Given the description of an element on the screen output the (x, y) to click on. 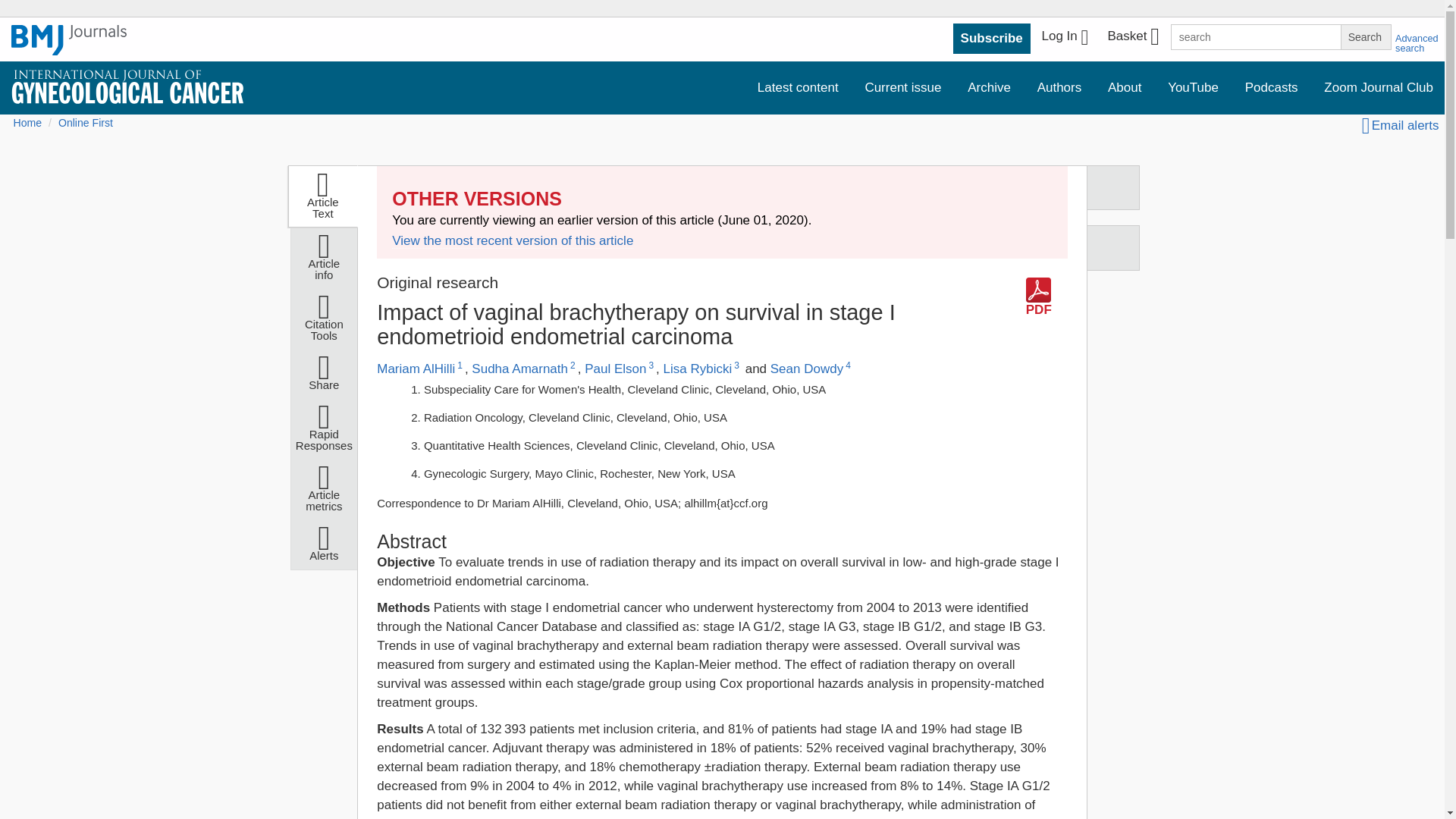
Search (1364, 36)
Subscribe (991, 38)
Archive (989, 87)
Basket (1132, 38)
Authors (1059, 87)
BMJ Journals (68, 47)
Search (1364, 36)
Current issue (902, 87)
Log In (1064, 38)
